Given the description of an element on the screen output the (x, y) to click on. 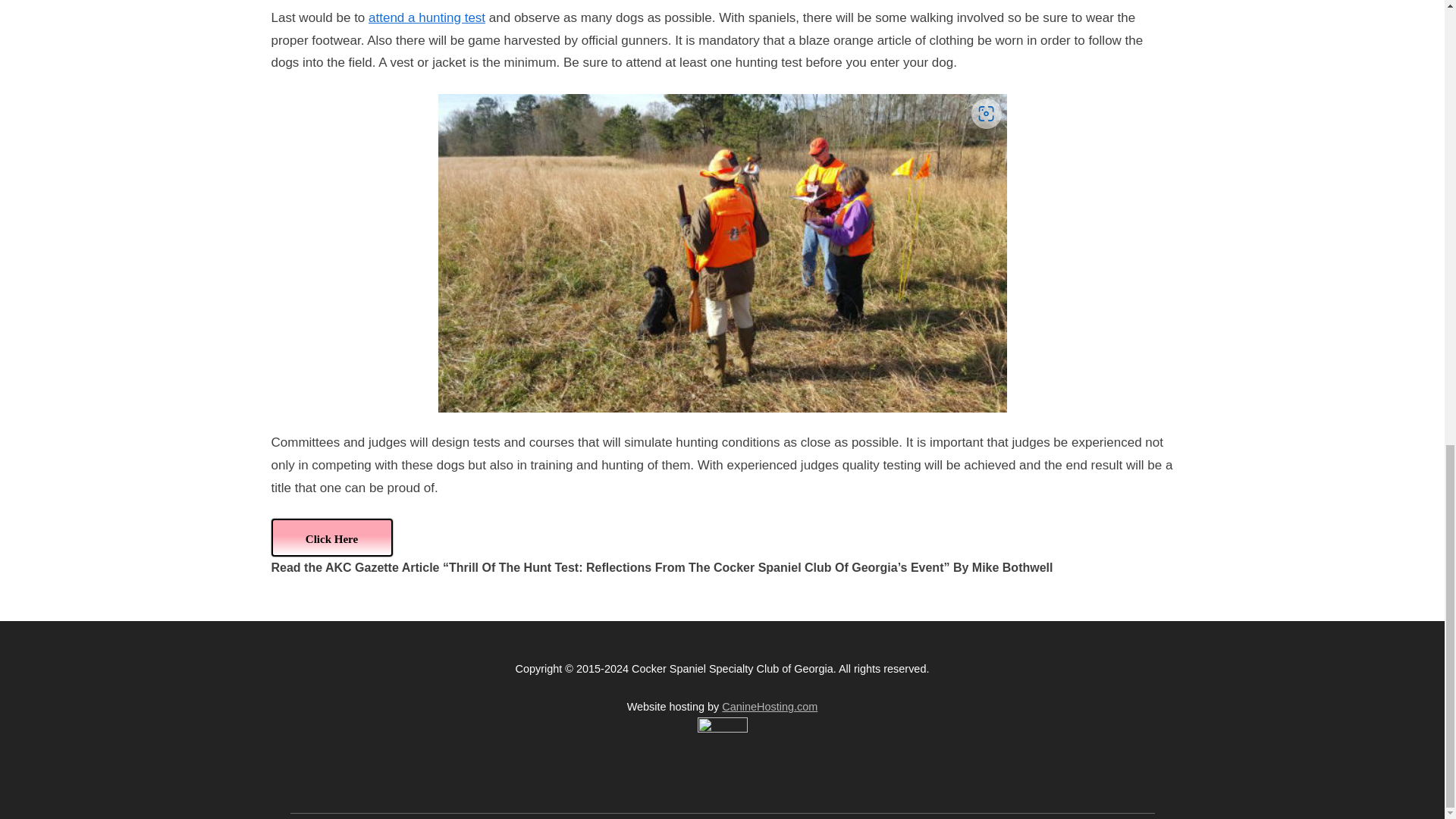
CanineHosting.com (769, 706)
attend a hunting test (426, 17)
Click Here (331, 537)
